Given the description of an element on the screen output the (x, y) to click on. 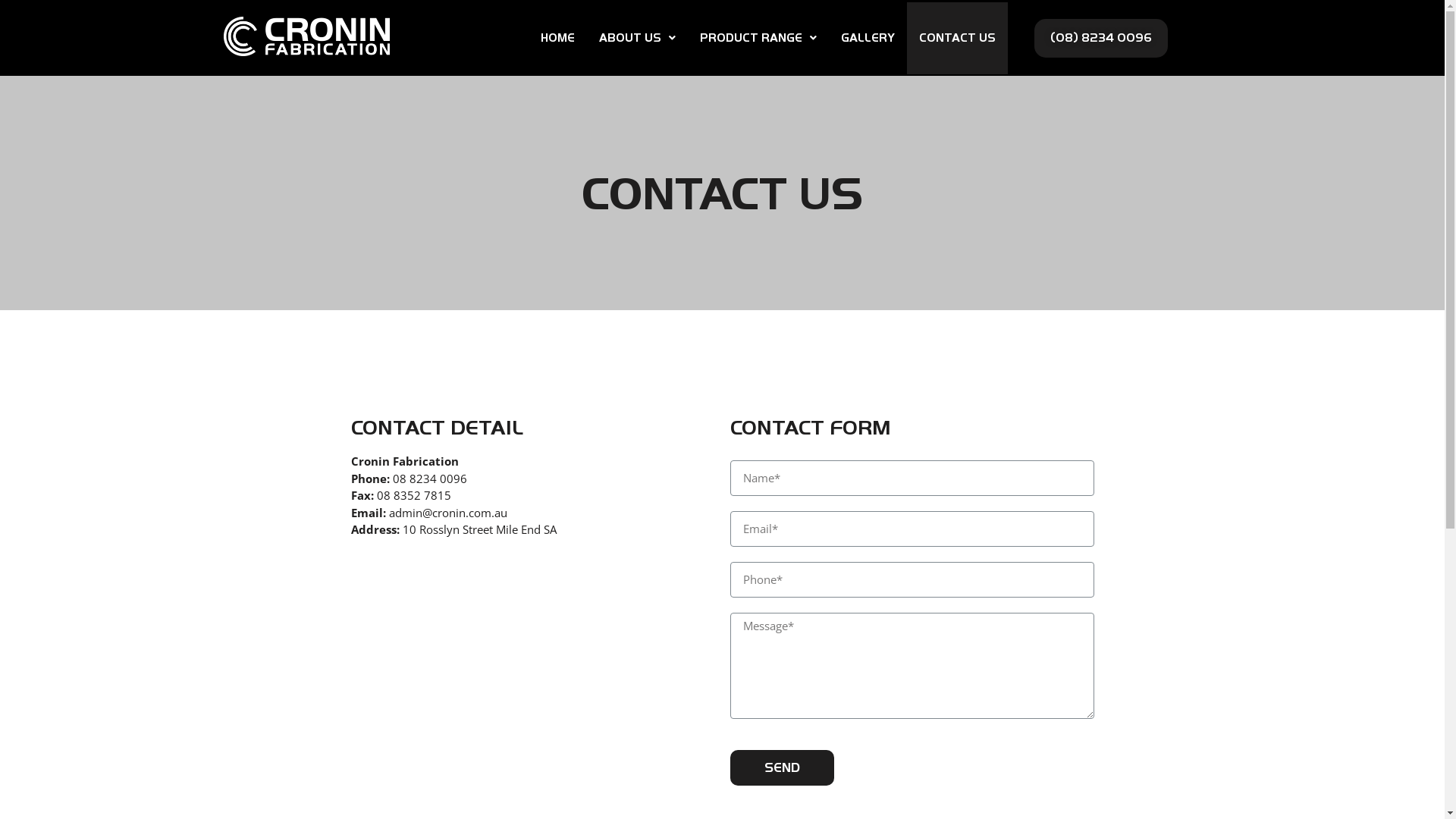
08 8234 0096 Element type: text (429, 477)
SEND Element type: text (781, 767)
GALLERY Element type: text (867, 37)
Cronin Fabrication Element type: hover (517, 680)
admin@cronin.com.au Element type: text (447, 512)
HOME Element type: text (557, 37)
(08) 8234 0096 Element type: text (1100, 37)
PRODUCT RANGE Element type: text (757, 37)
CONTACT US Element type: text (956, 37)
ABOUT US Element type: text (636, 37)
